Given the description of an element on the screen output the (x, y) to click on. 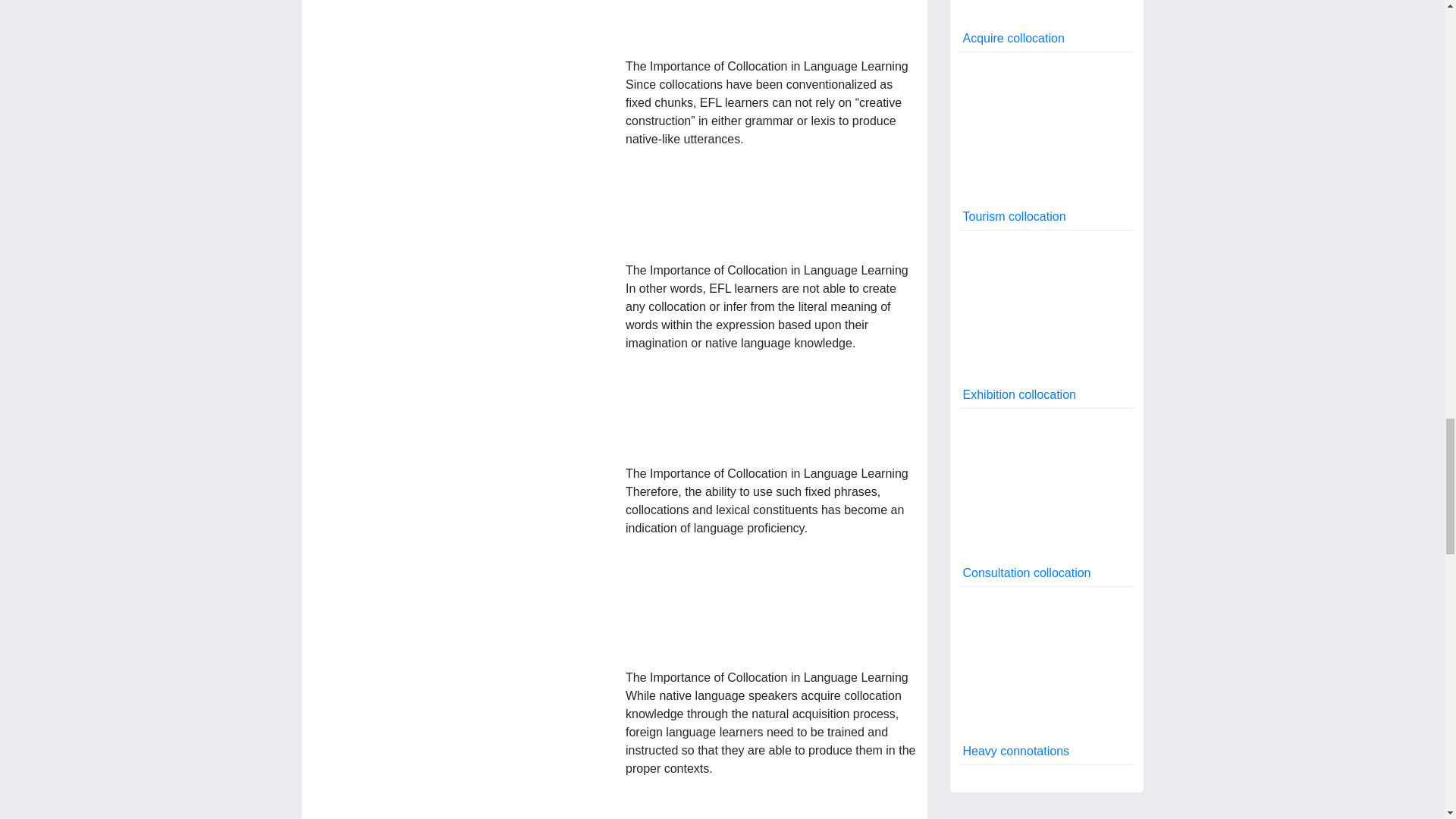
Consultation collocation (1046, 497)
Exhibition collocation (1046, 319)
Acquire collocation (1046, 26)
Tourism collocation (1046, 141)
Heavy connotations (1046, 675)
